Given the description of an element on the screen output the (x, y) to click on. 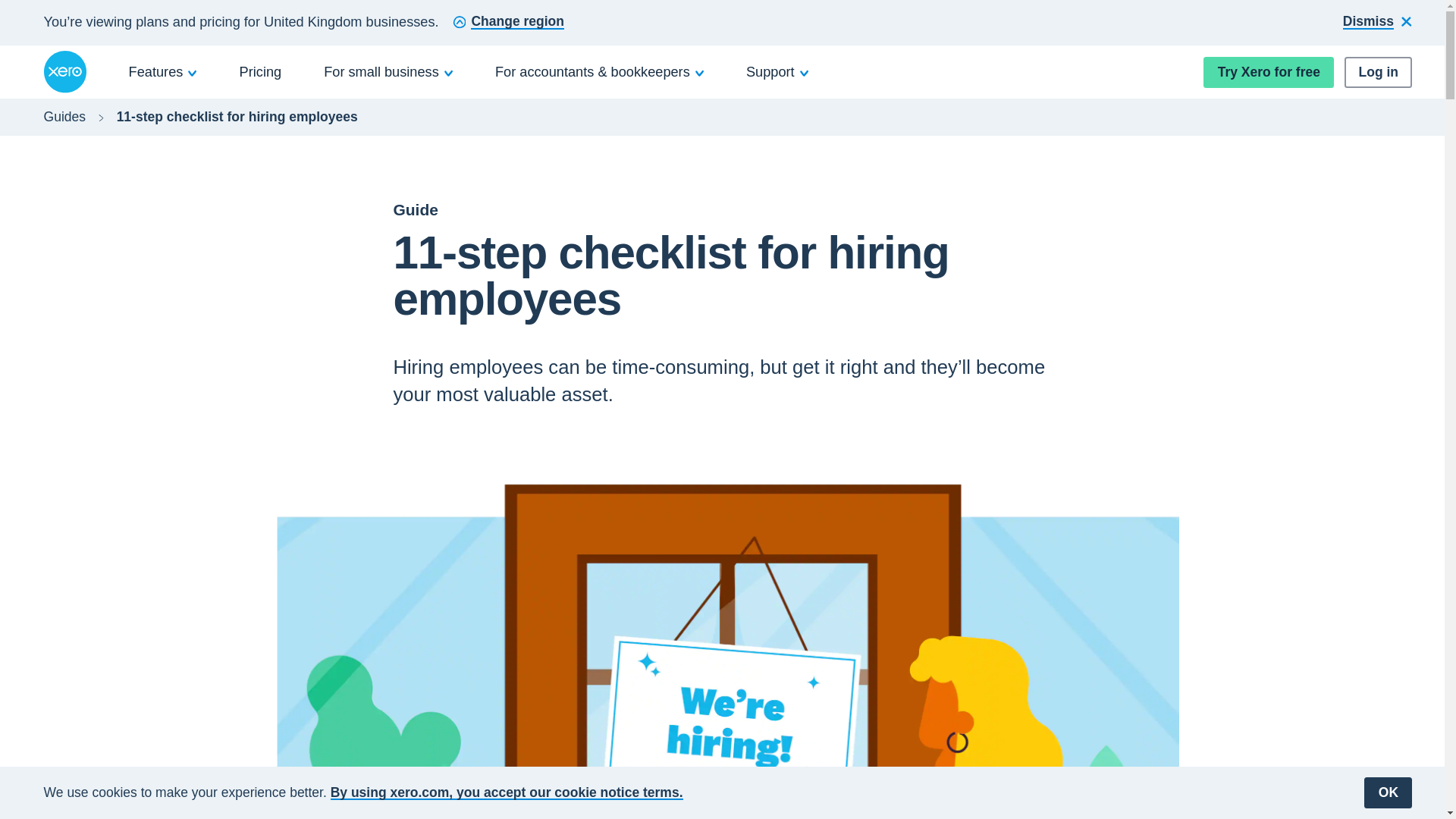
OK (1388, 792)
Features (162, 71)
Support (777, 71)
Try Xero for free (1268, 71)
Guides (64, 116)
Dismiss (1377, 23)
For small business (388, 71)
Change region (508, 23)
11-step checklist for hiring employees (237, 116)
Pricing (260, 71)
By using xero.com, you accept our cookie notice terms. (506, 792)
Log in (1377, 71)
